Given the description of an element on the screen output the (x, y) to click on. 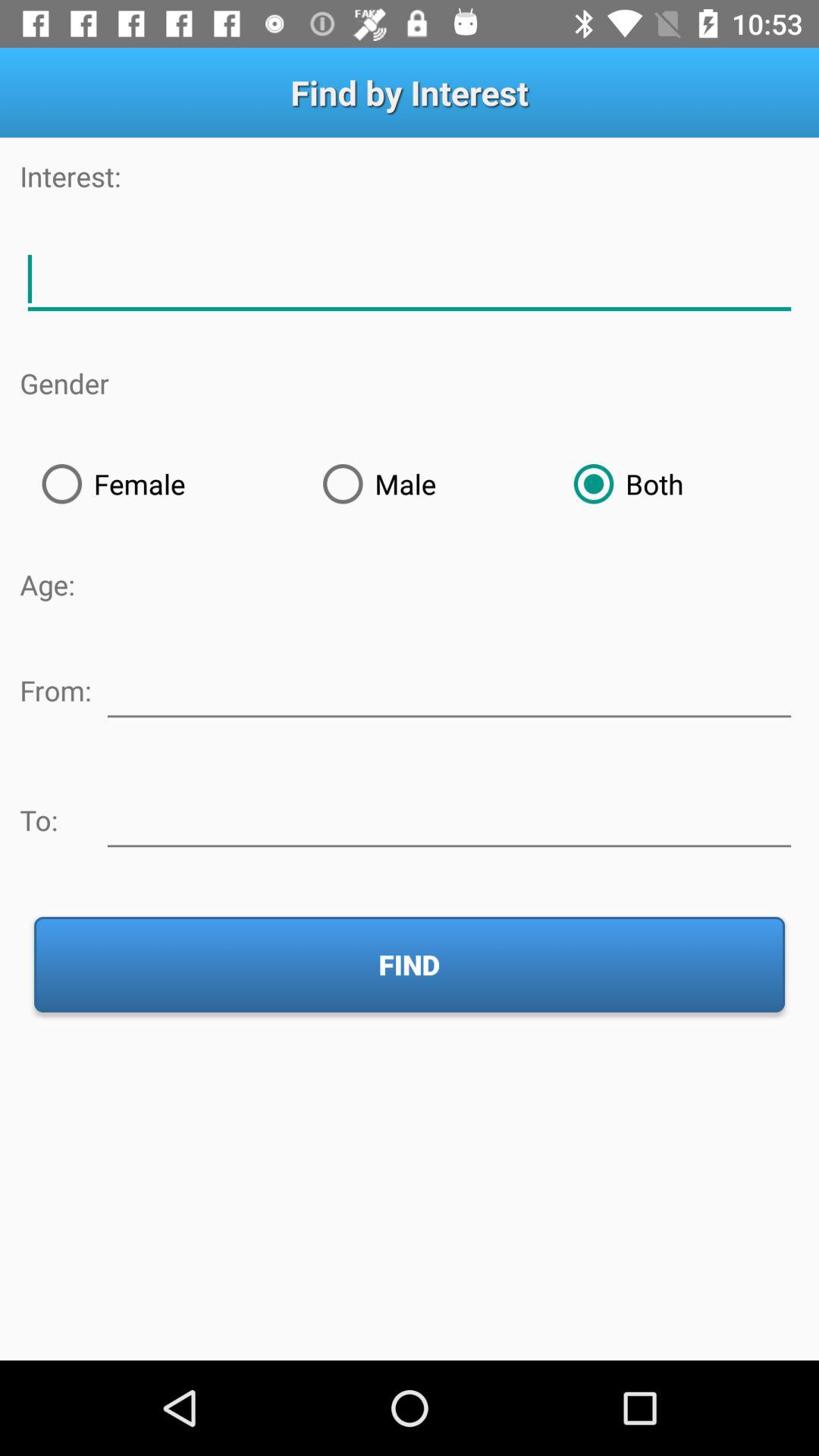
select the item to the left of the male radio button (160, 483)
